Given the description of an element on the screen output the (x, y) to click on. 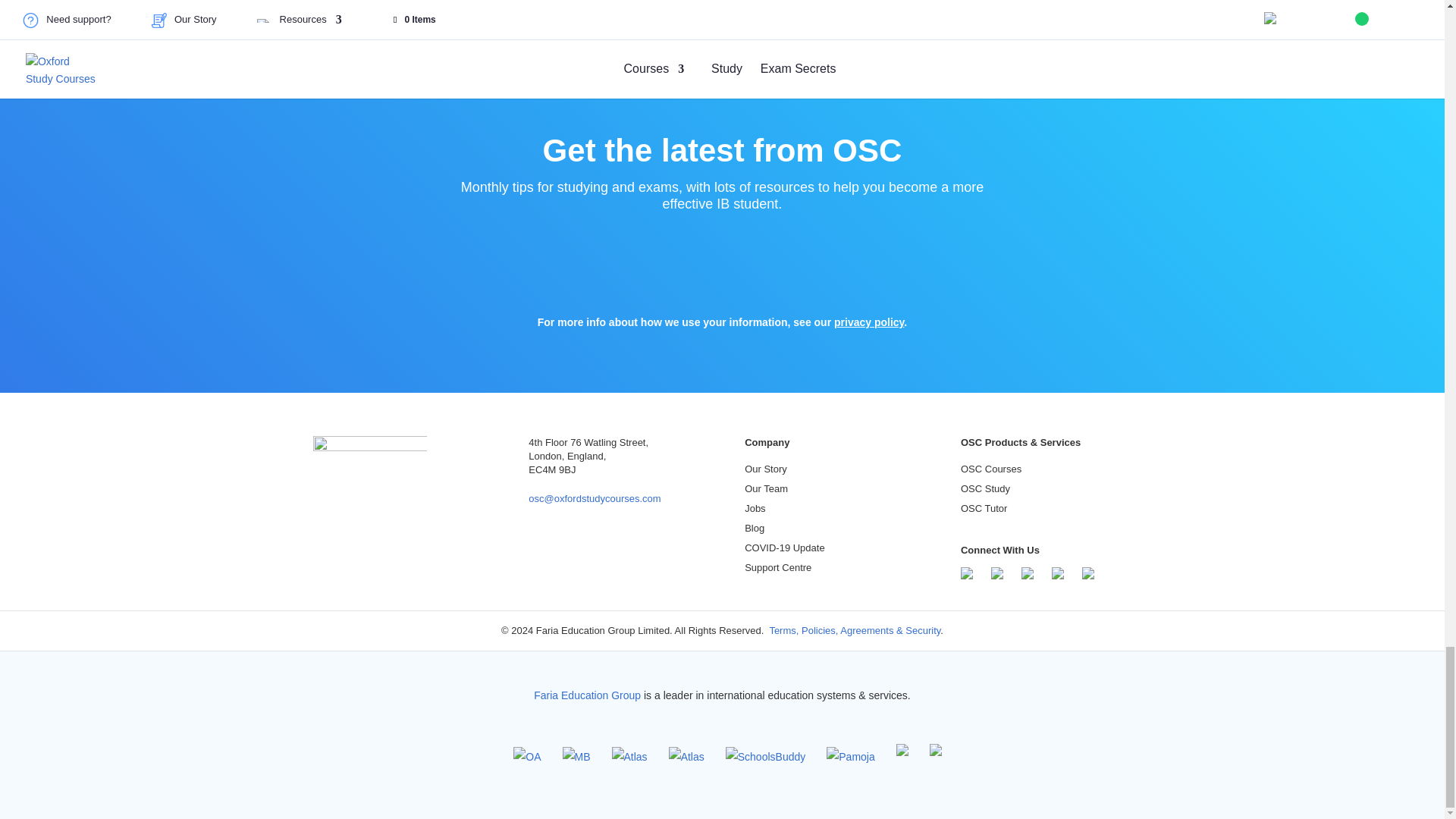
osc-logo (369, 460)
Our Story (765, 469)
privacy policy (869, 322)
